Given the description of an element on the screen output the (x, y) to click on. 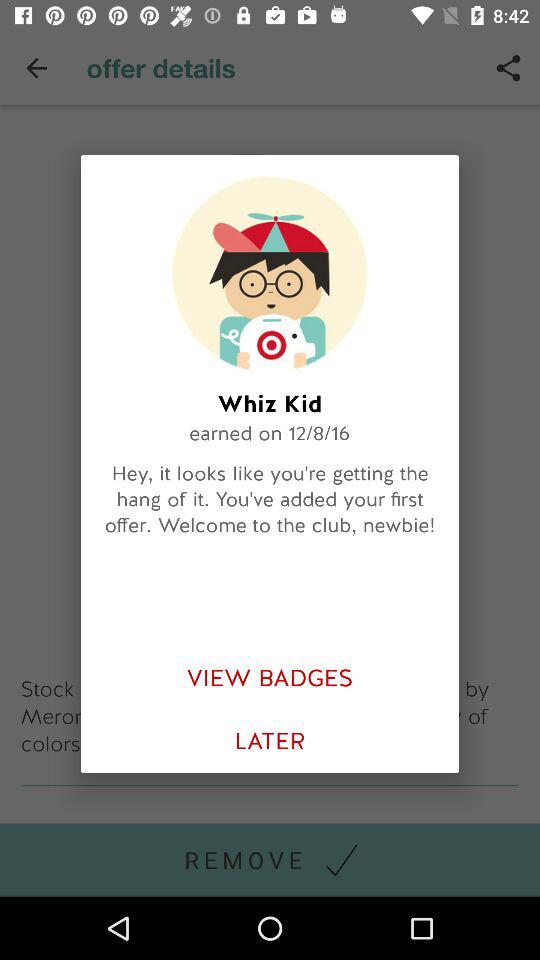
jump to view badges item (270, 678)
